Given the description of an element on the screen output the (x, y) to click on. 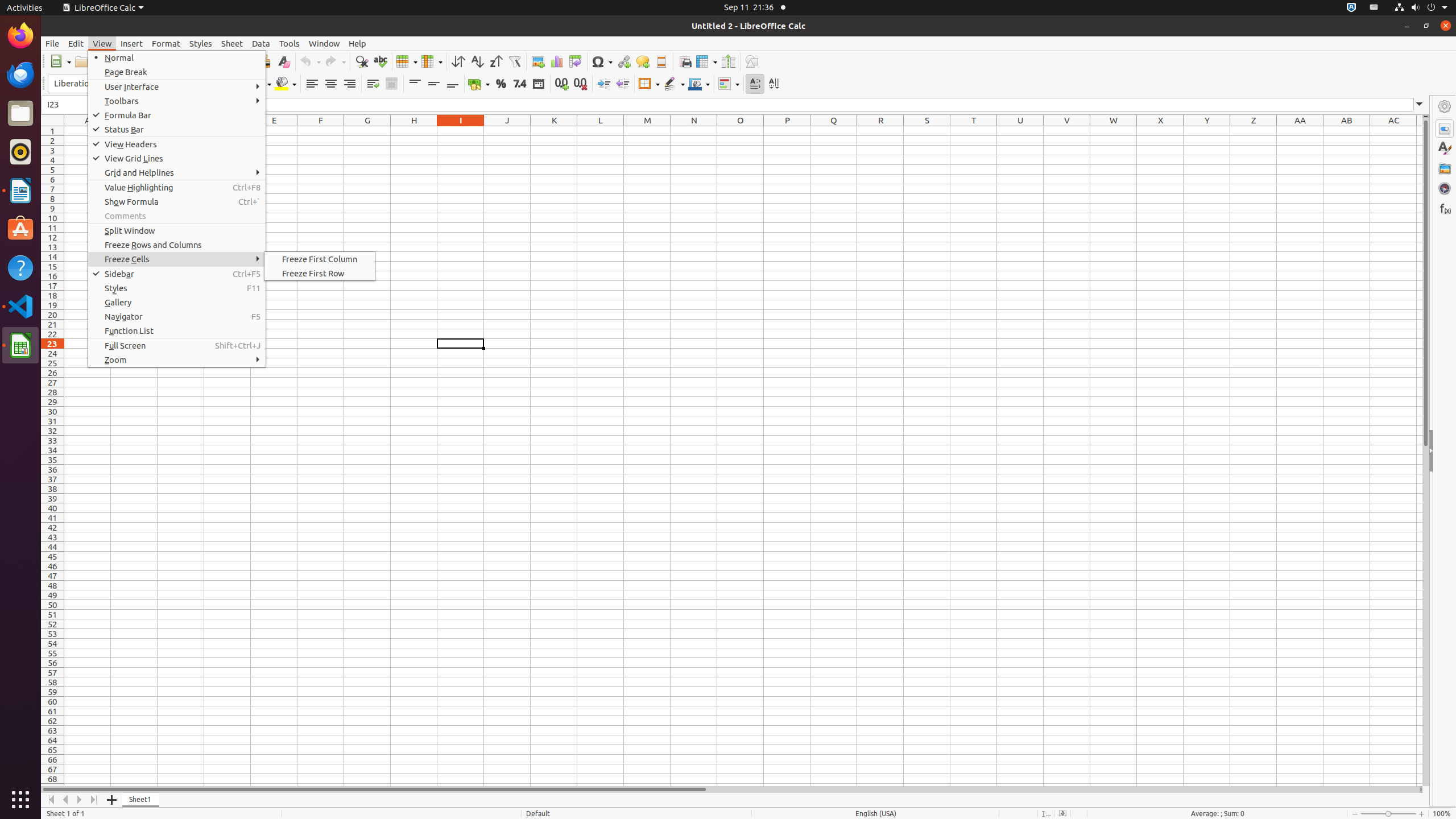
Number Element type: push-button (519, 83)
Find & Replace Element type: toggle-button (361, 61)
D1 Element type: table-cell (227, 130)
X1 Element type: table-cell (1159, 130)
Symbol Element type: push-button (601, 61)
